Given the description of an element on the screen output the (x, y) to click on. 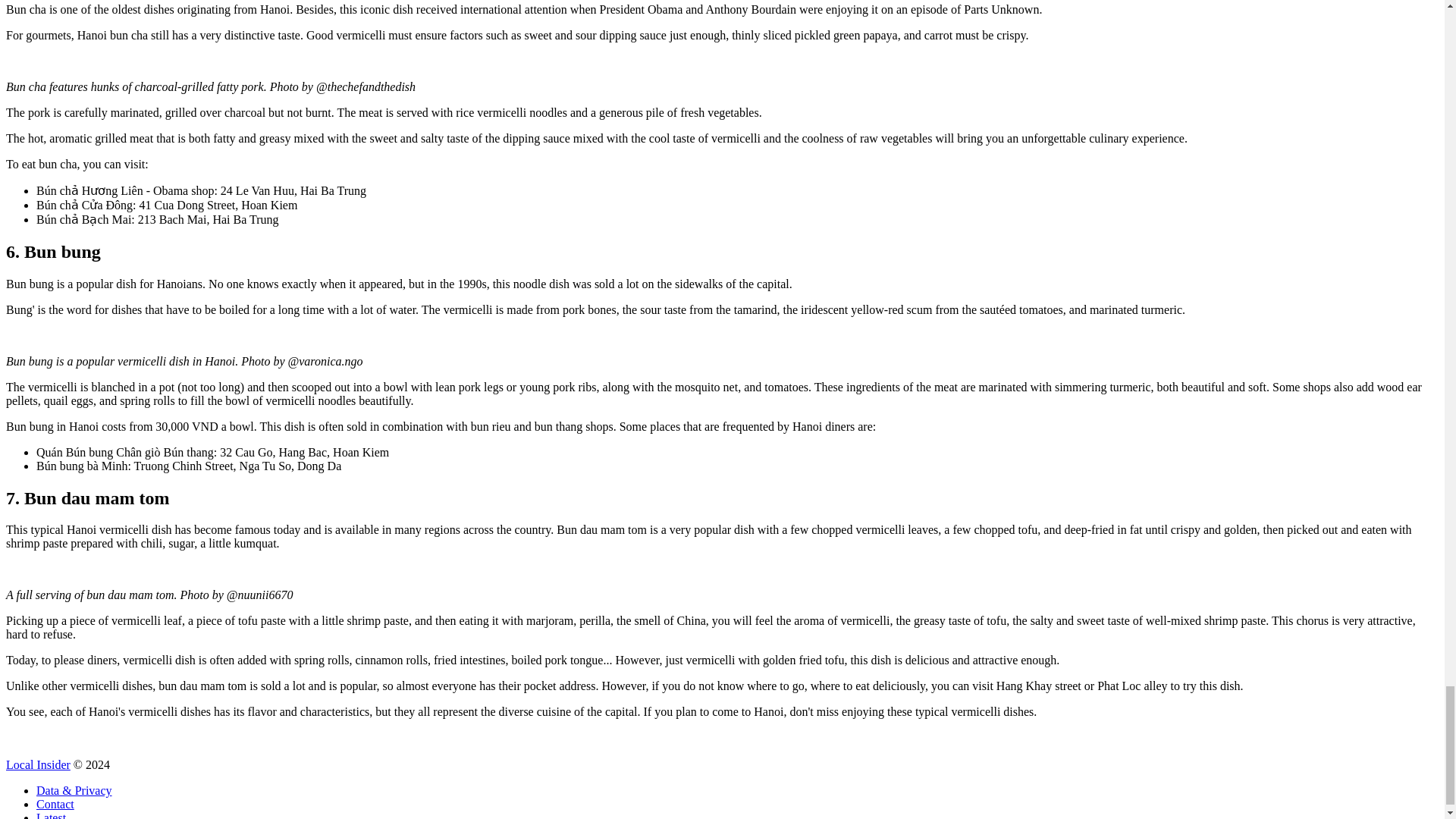
Contact (55, 803)
Local Insider (37, 764)
